Given the description of an element on the screen output the (x, y) to click on. 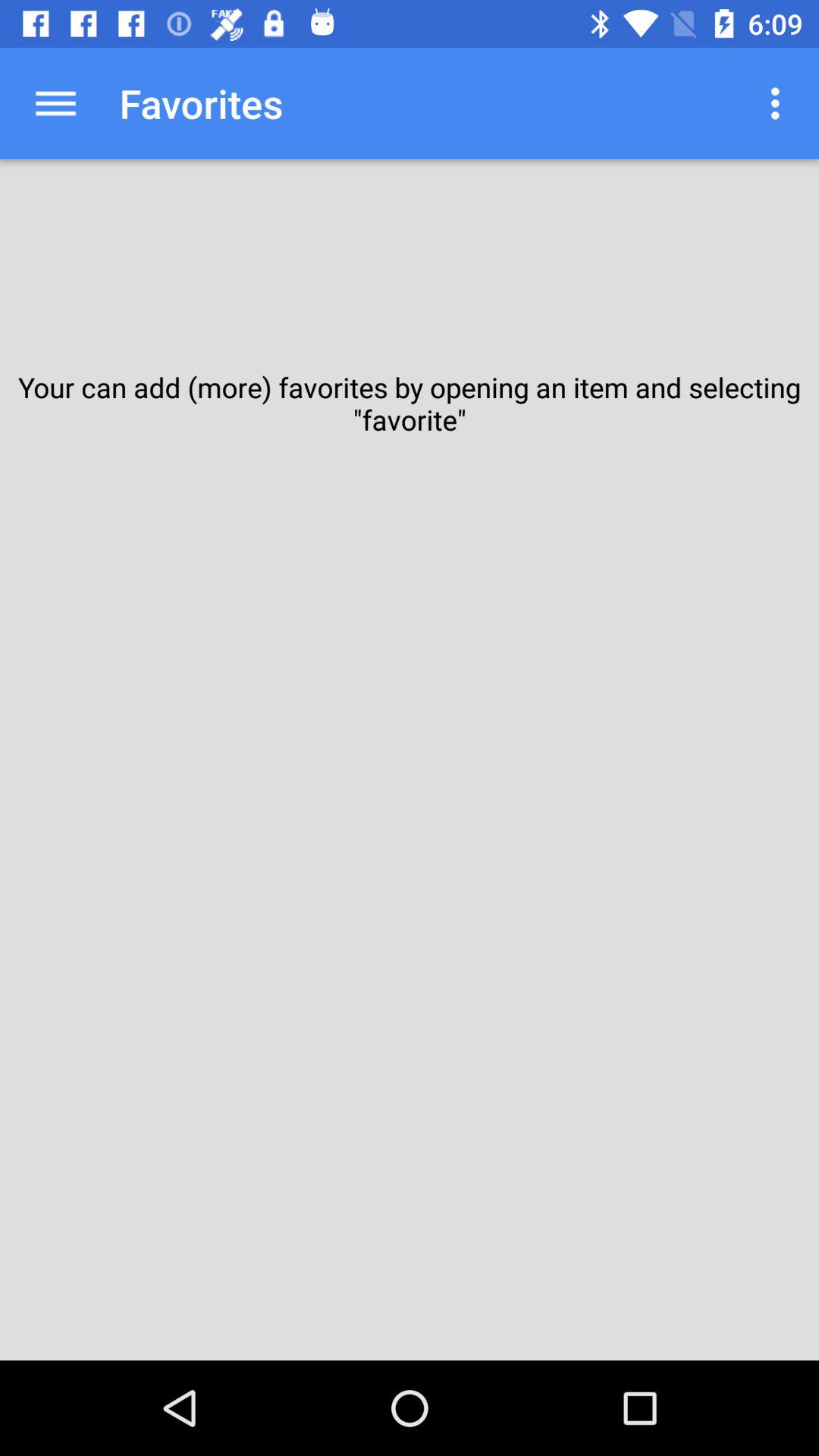
turn off the icon above your can add icon (55, 103)
